Given the description of an element on the screen output the (x, y) to click on. 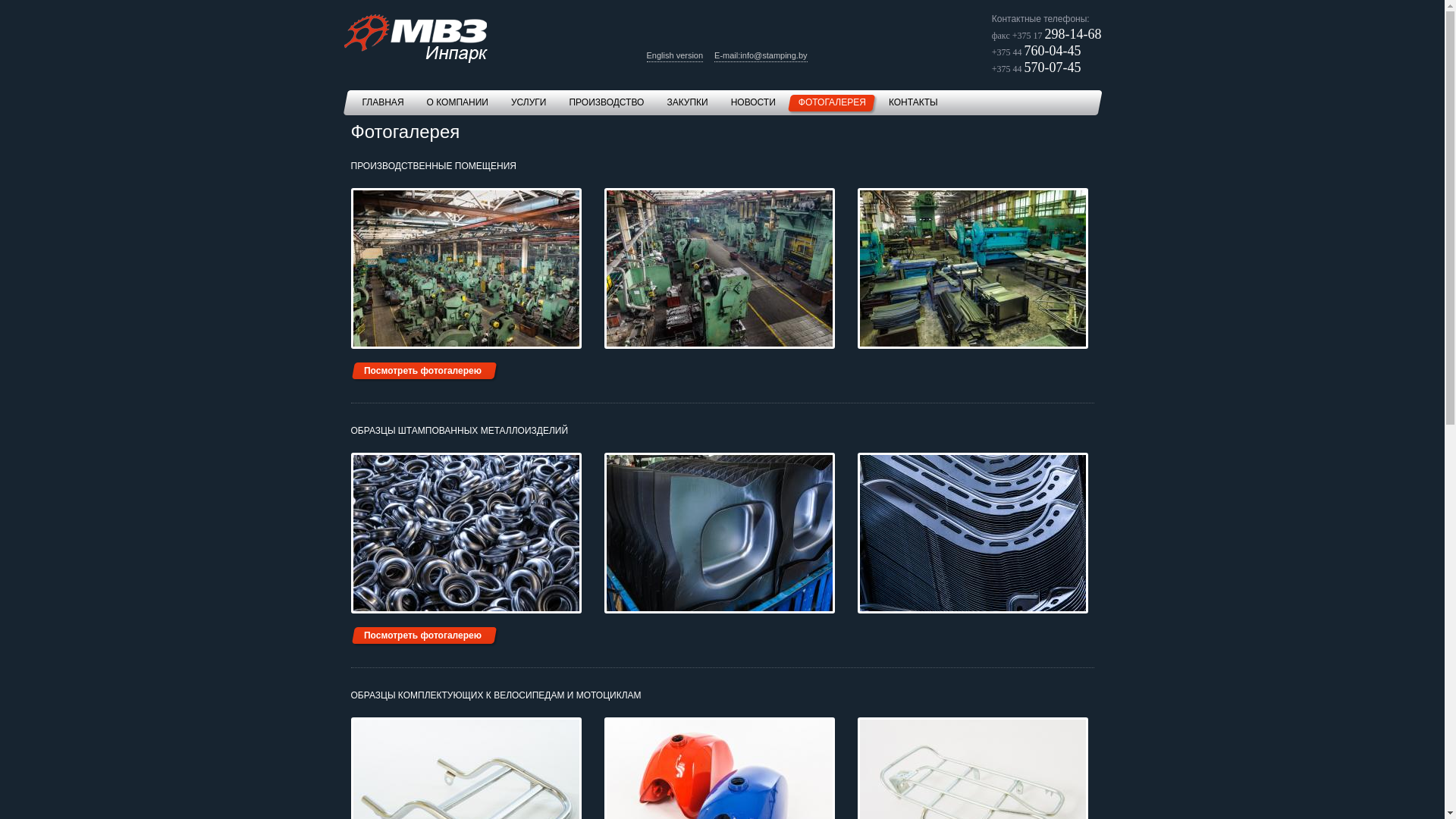
E-mail:info@stamping.by Element type: text (760, 55)
English version Element type: text (674, 55)
